Given the description of an element on the screen output the (x, y) to click on. 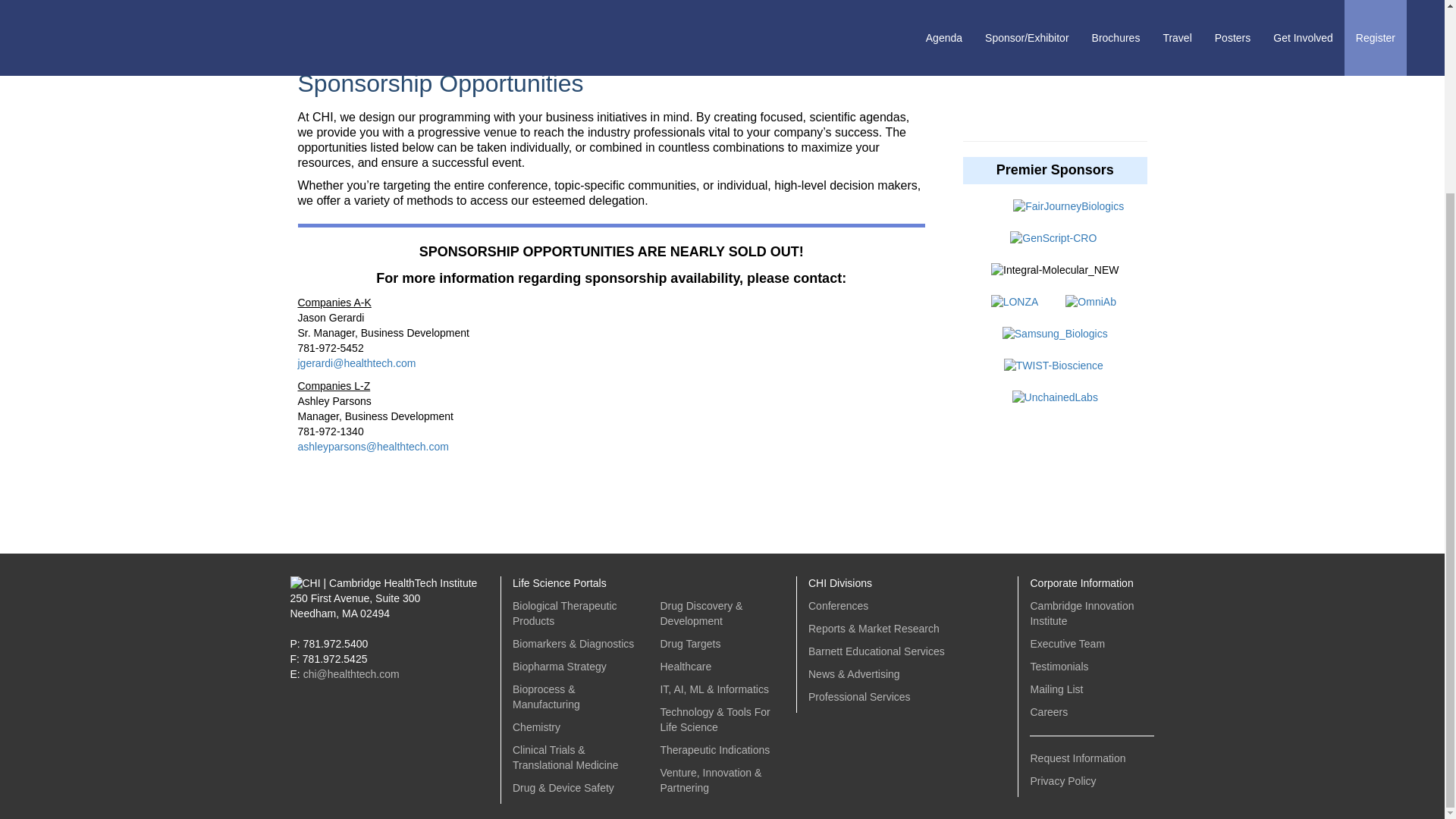
Exhibit Services (660, 34)
FAQs (868, 34)
Exhibits (557, 34)
Sponsorship Opportunities (452, 34)
Current Sponsors (348, 34)
Lead Gen (765, 34)
